Given the description of an element on the screen output the (x, y) to click on. 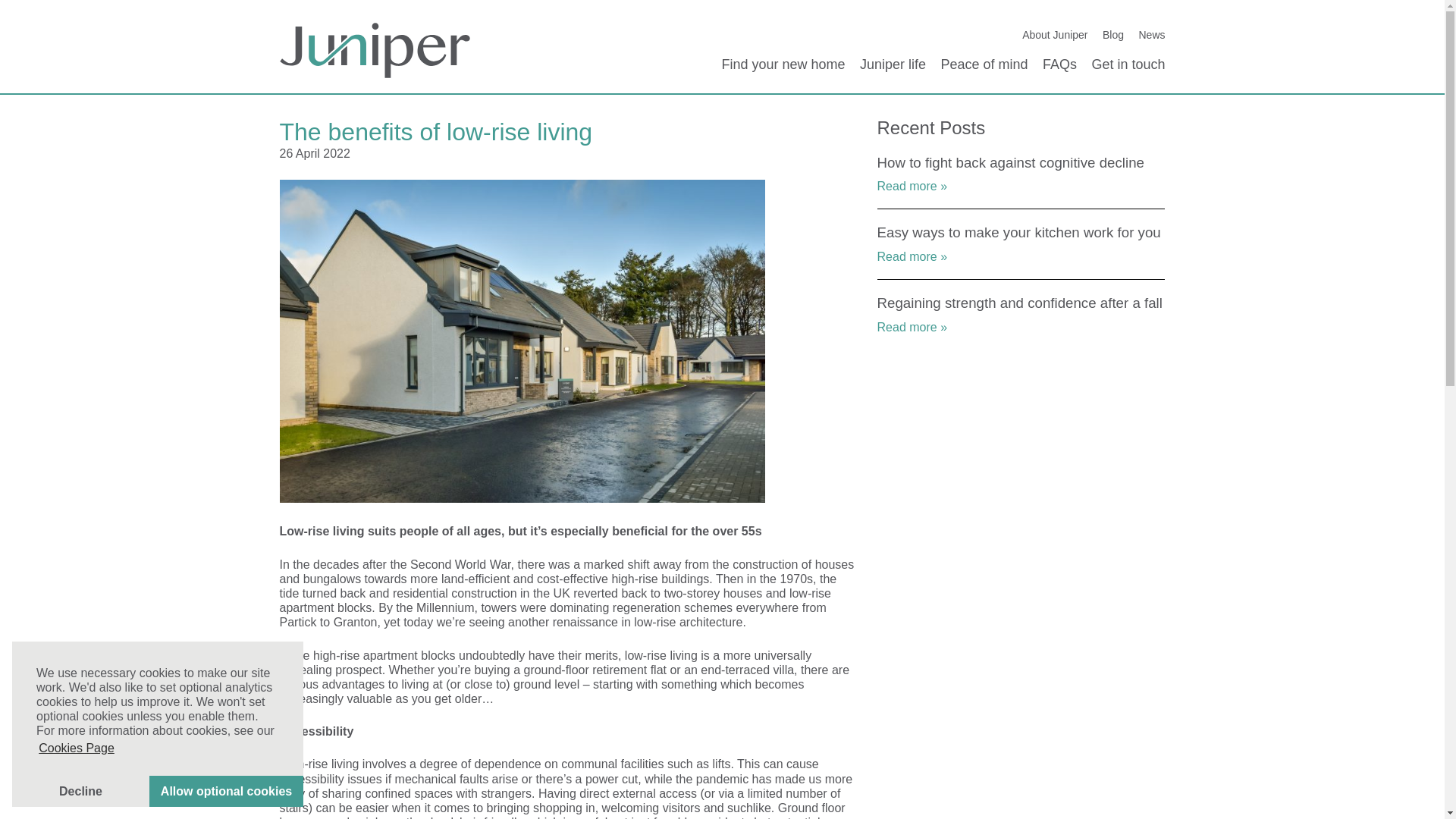
Allow optional cookies (225, 790)
FAQs (1059, 64)
Juniper life (893, 64)
Blog (1113, 34)
Decline (80, 790)
Find your new home (782, 64)
News (1151, 34)
Cookies Page (76, 748)
About Juniper (1054, 34)
Peace of mind (983, 64)
Get in touch (1127, 64)
